Given the description of an element on the screen output the (x, y) to click on. 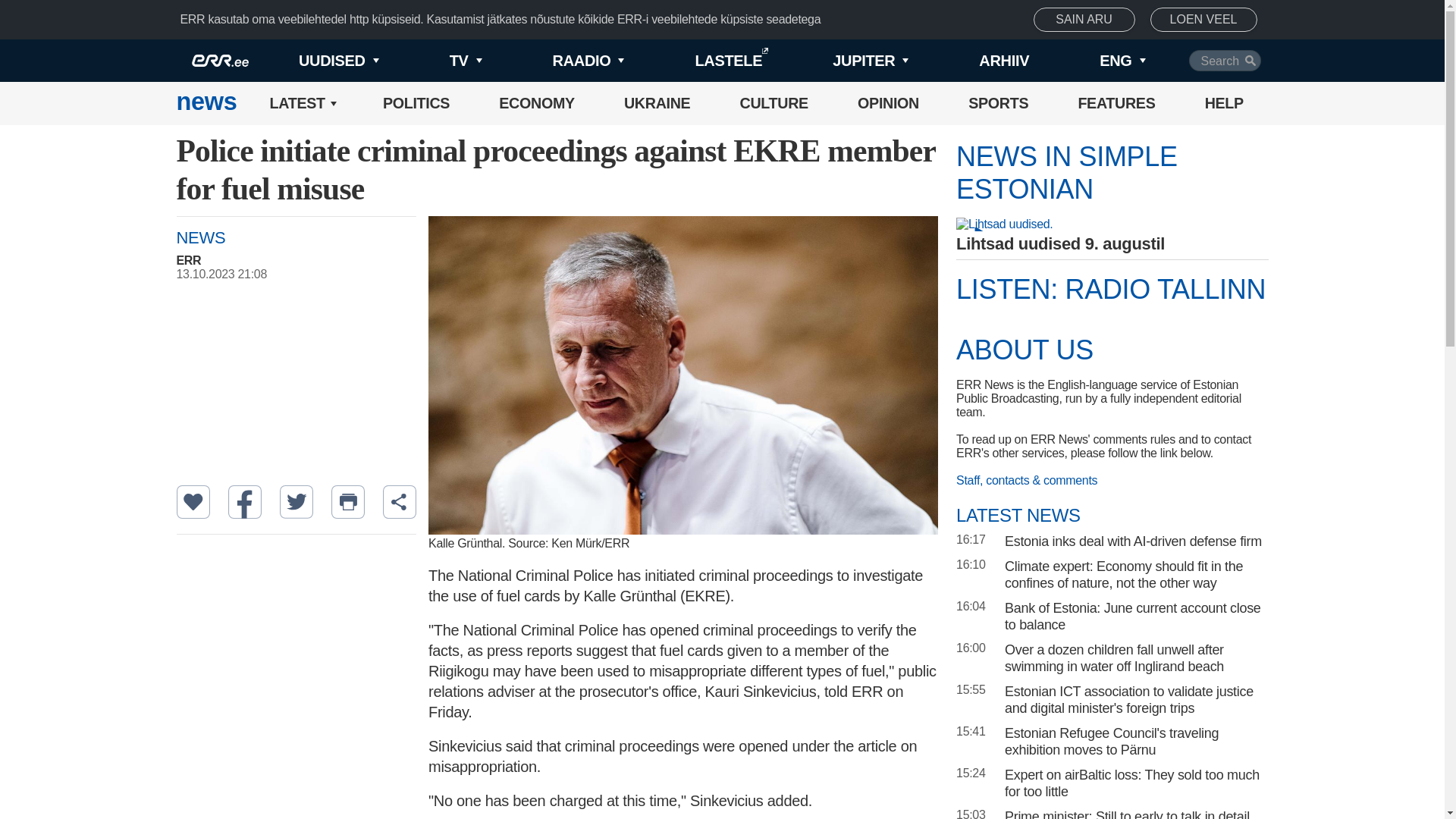
Avalehele (205, 103)
UUDISED (314, 60)
13.10.2023 21:08 (302, 274)
TV (440, 60)
SAIN ARU (1084, 19)
LOEN VEEL (1203, 19)
RAADIO (563, 60)
